Given the description of an element on the screen output the (x, y) to click on. 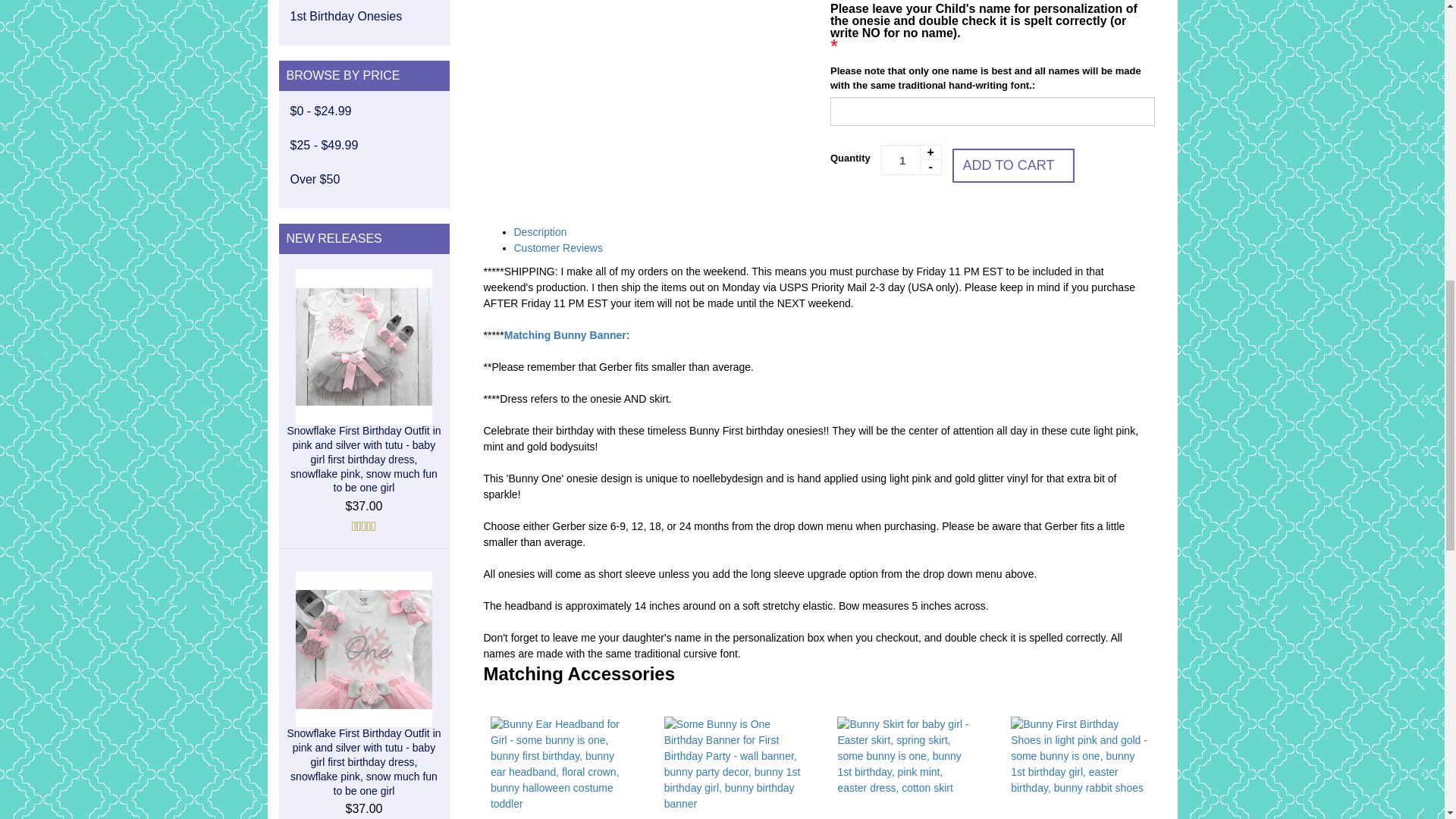
1st Birthday Onesies (365, 16)
1 (911, 159)
